Given the description of an element on the screen output the (x, y) to click on. 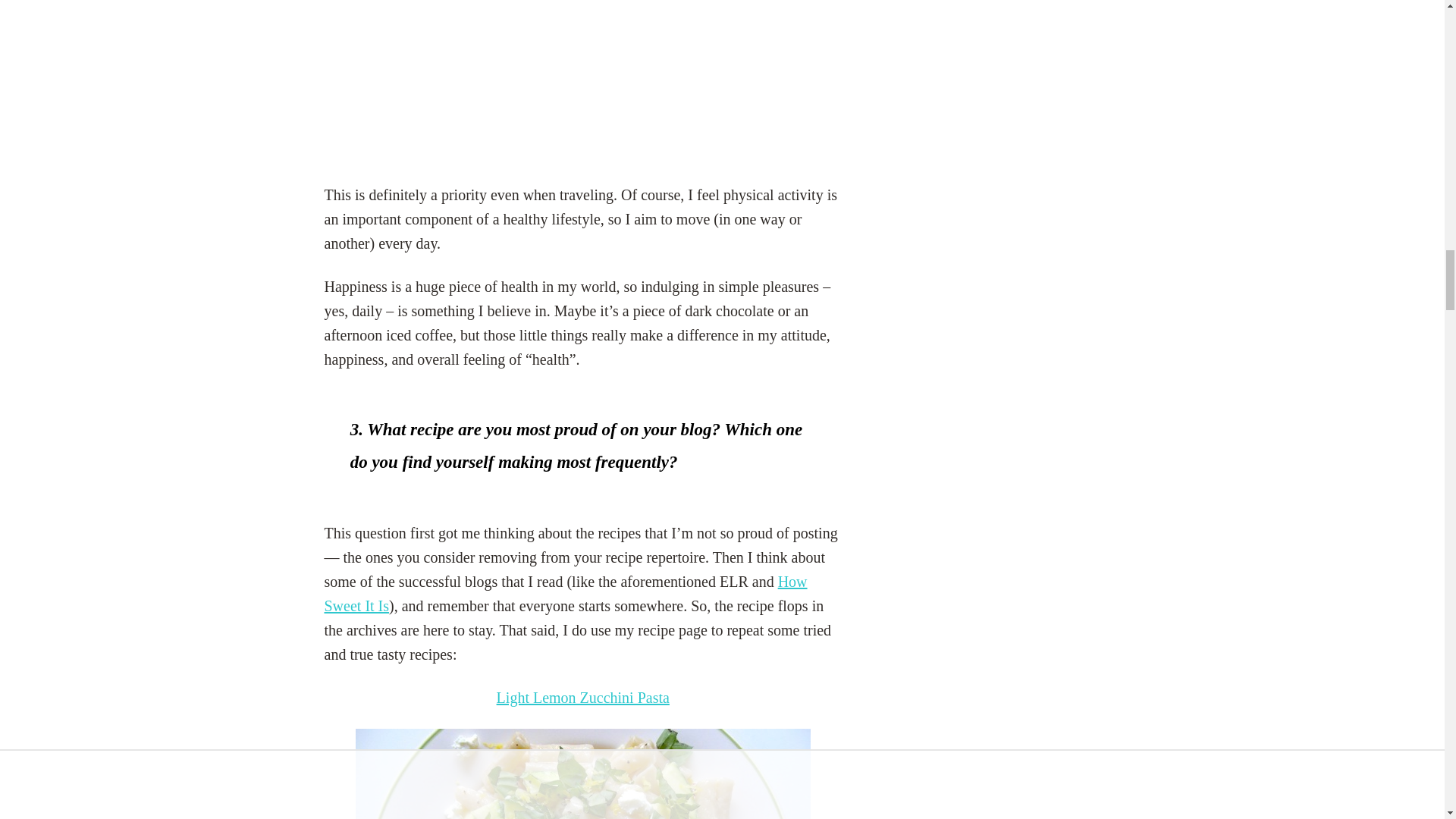
DSC00781-001 (582, 773)
